Given the description of an element on the screen output the (x, y) to click on. 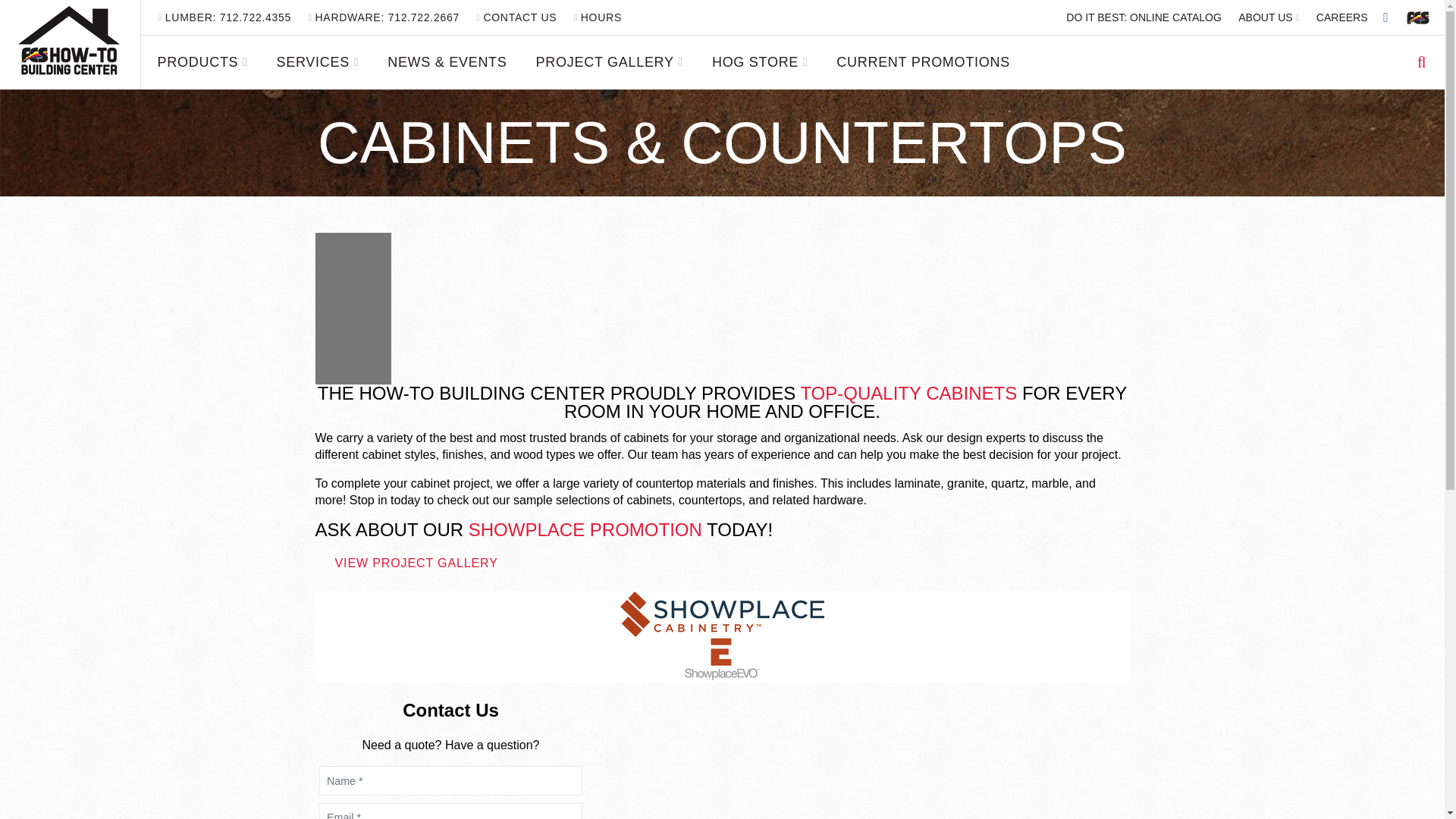
HOURS (598, 17)
HARDWARE: 712.722.2667 (383, 17)
Hardware: 712.722.2667 (383, 17)
 Facebook Square (1385, 17)
Do it Best: Online Catalog (1144, 17)
SERVICES (318, 63)
DO IT BEST: ONLINE CATALOG (1144, 17)
CAREERS (1341, 17)
Contact (515, 17)
FACEBOOK SQUARE (1385, 17)
